Given the description of an element on the screen output the (x, y) to click on. 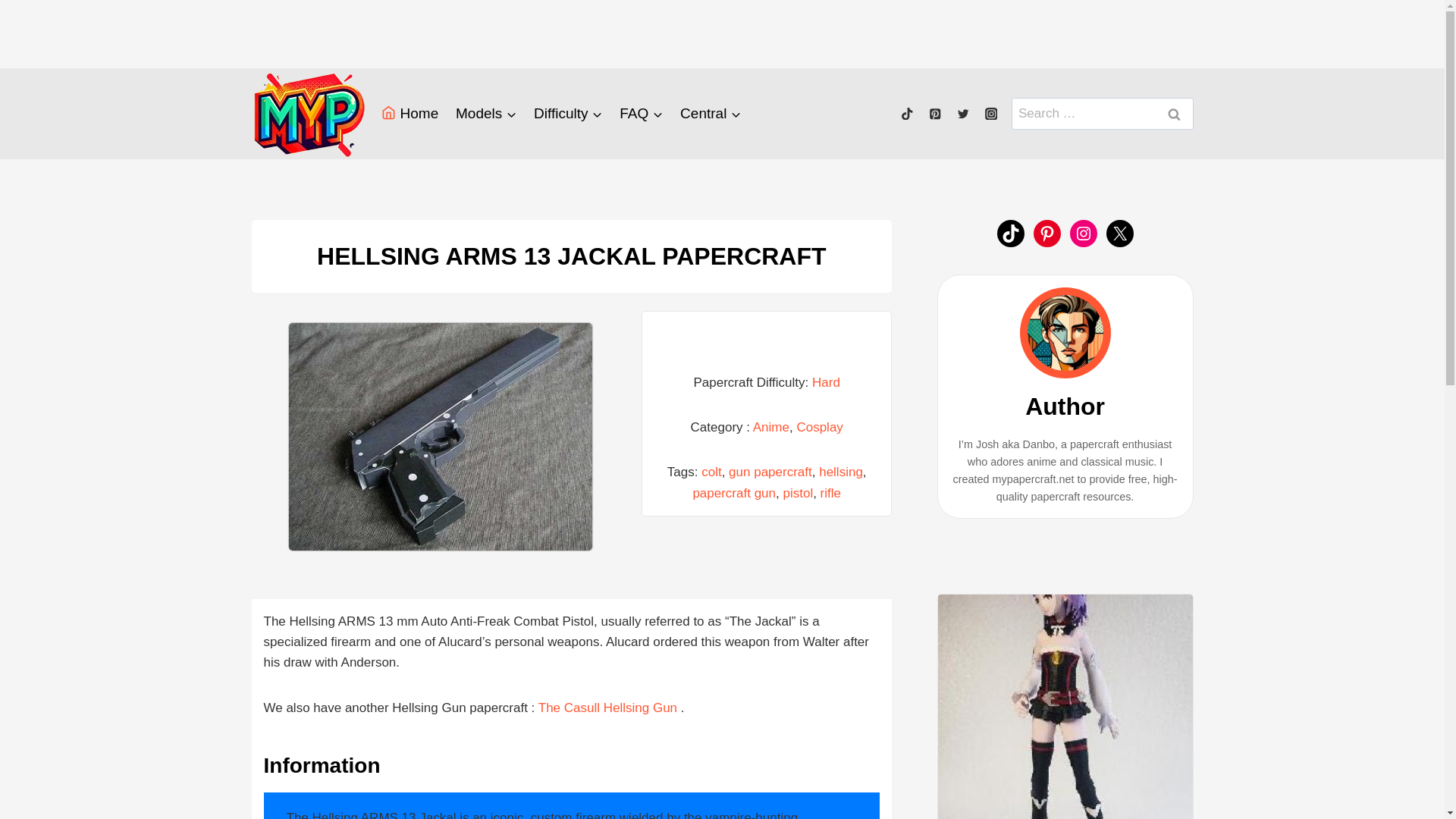
Difficulty (568, 113)
Central (710, 113)
Search (1174, 113)
Anime (770, 427)
Search (1174, 113)
Search (1174, 113)
FAQ (641, 113)
FGO Helena Blavatsky Paper craft 1 (1064, 706)
Models (485, 113)
Hard (826, 382)
Home (409, 113)
